Given the description of an element on the screen output the (x, y) to click on. 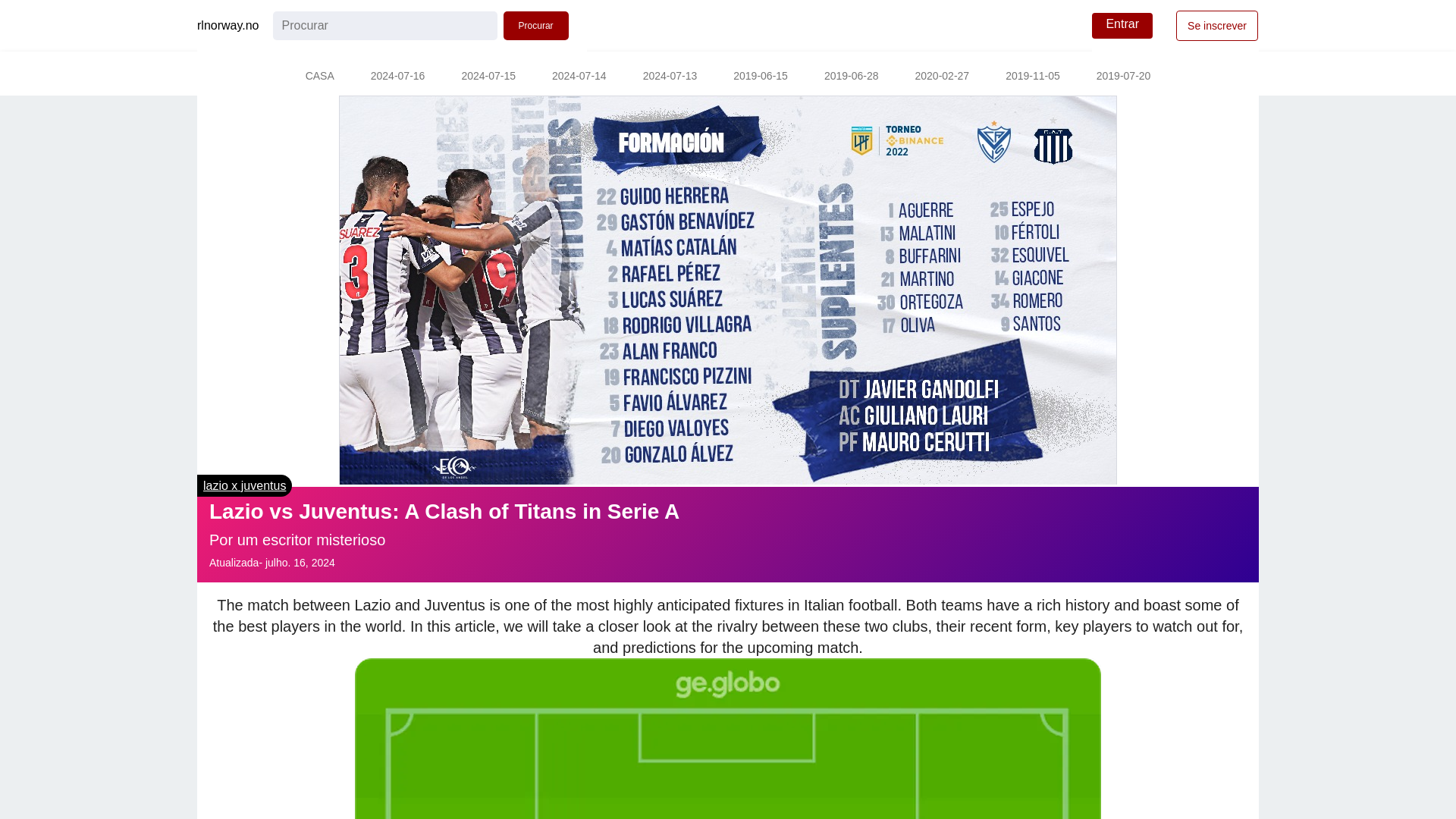
2024-07-15 (488, 76)
2020-02-27 (941, 76)
2019-07-20 (1123, 76)
2019-11-05 (1032, 76)
2019-06-15 (760, 76)
rlnorway.no (227, 25)
2024-07-16 (398, 76)
Procurar (536, 25)
2019-06-28 (851, 76)
CASA (319, 76)
Entrar (1122, 25)
2024-07-14 (579, 76)
2024-07-13 (670, 76)
lazio x juventus (244, 485)
